Given the description of an element on the screen output the (x, y) to click on. 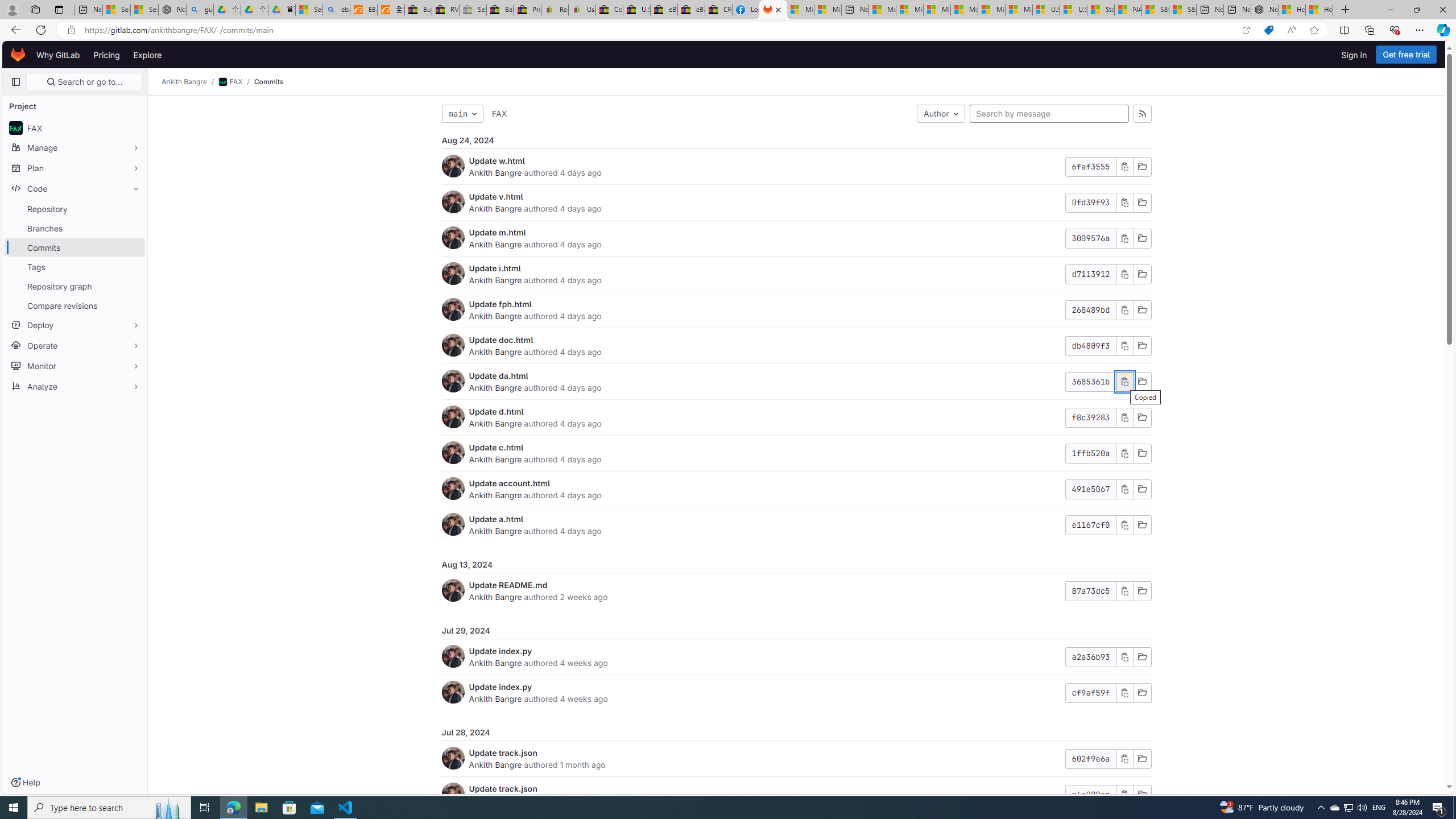
How to Use a Monitor With Your Closed Laptop (1319, 9)
S&P 500, Nasdaq end lower, weighed by Nvidia dip | Watch (1182, 9)
Update d.htmlAnkith Bangre authored 4 days agof8c39283 (796, 417)
Analyze (74, 385)
Press Room - eBay Inc. (527, 9)
Get free trial (1406, 54)
Update account.htmlAnkith Bangre authored 4 days ago491e5067 (796, 488)
Deploy (74, 324)
Baby Keepsakes & Announcements for sale | eBay (499, 9)
